Given the description of an element on the screen output the (x, y) to click on. 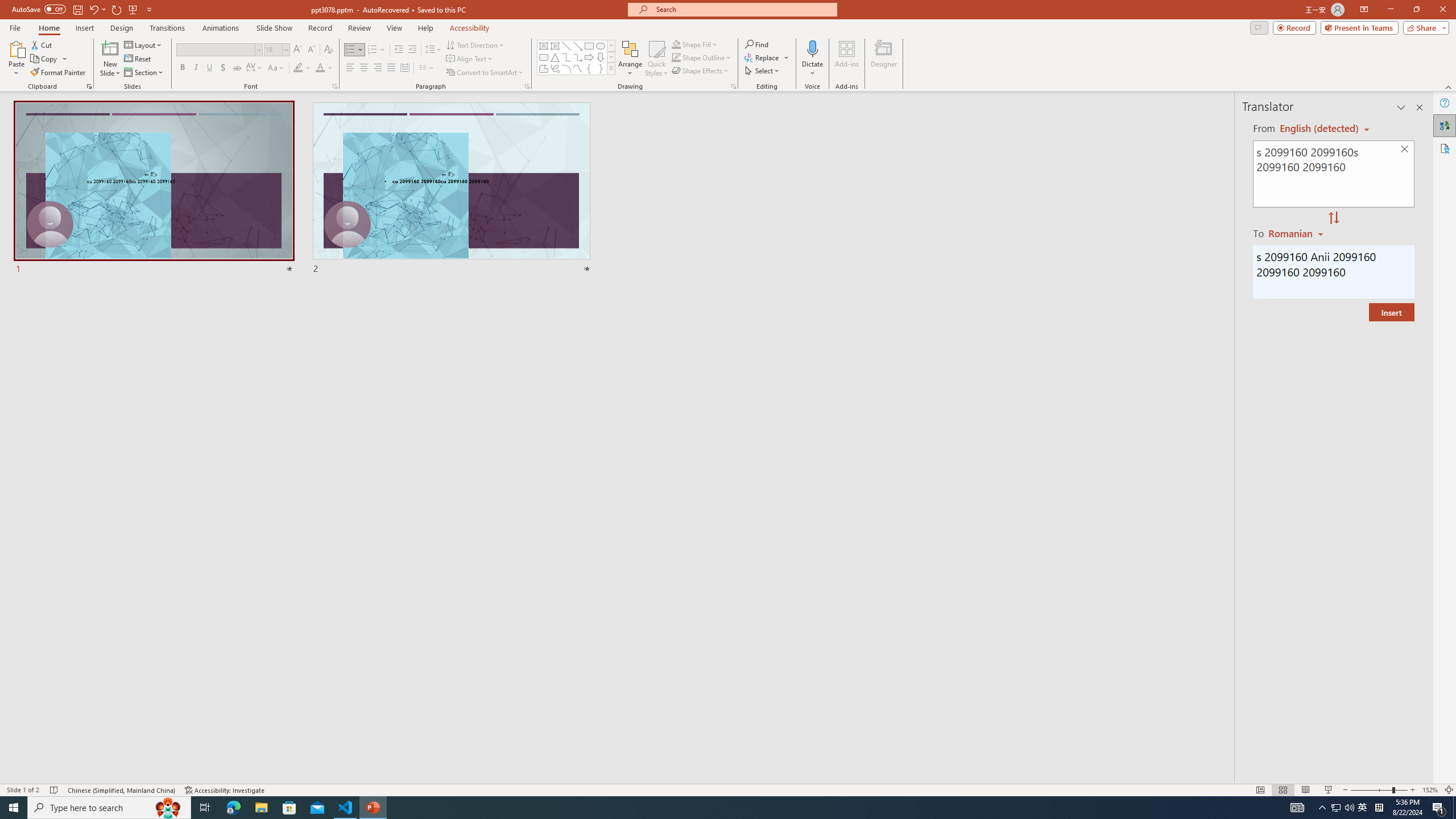
Clear text (1404, 149)
